Given the description of an element on the screen output the (x, y) to click on. 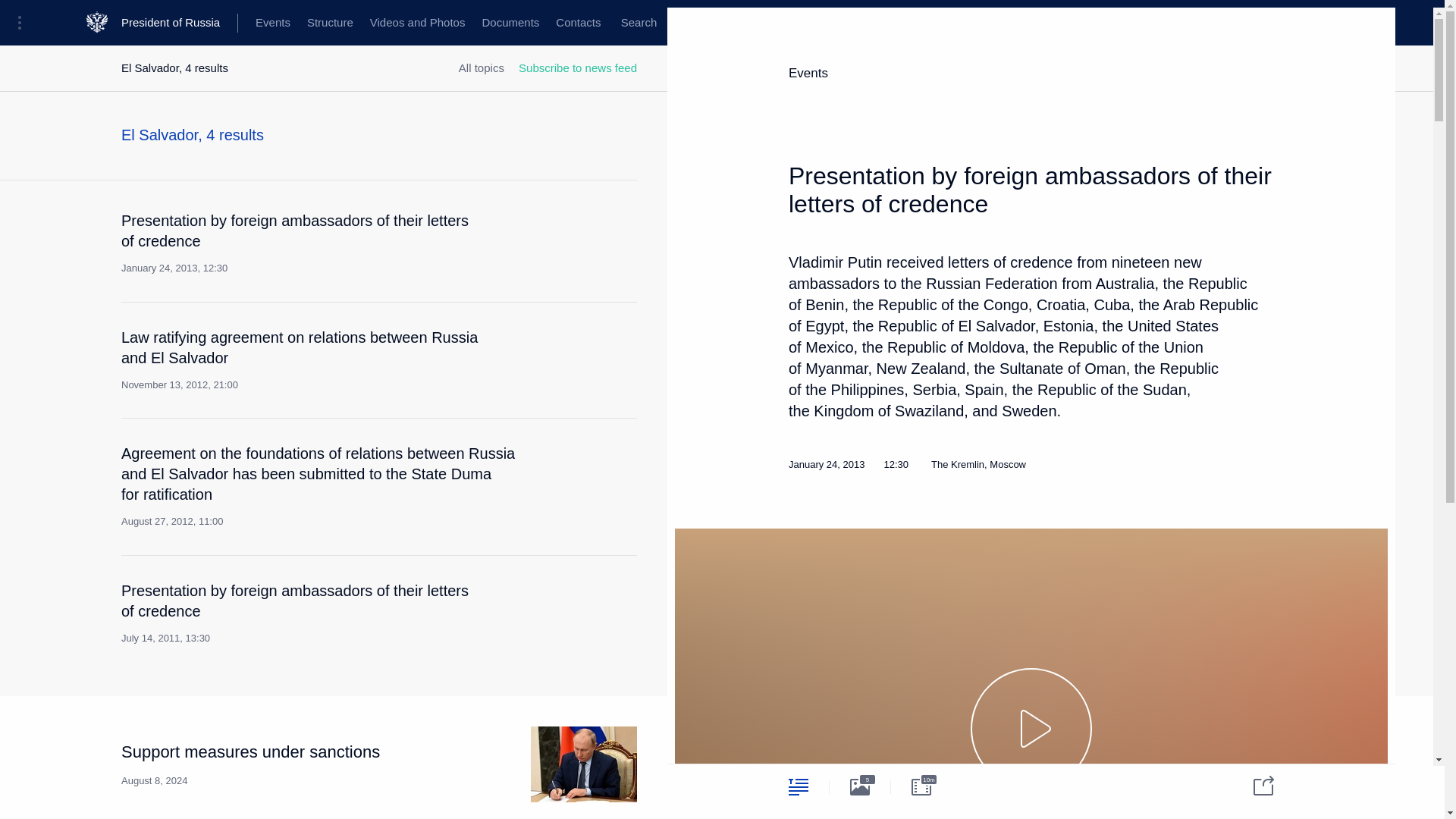
Text (798, 786)
President of Russia (179, 22)
Structure (329, 22)
Global website search (638, 22)
Share (1253, 784)
Videos and Photos (417, 22)
